Given the description of an element on the screen output the (x, y) to click on. 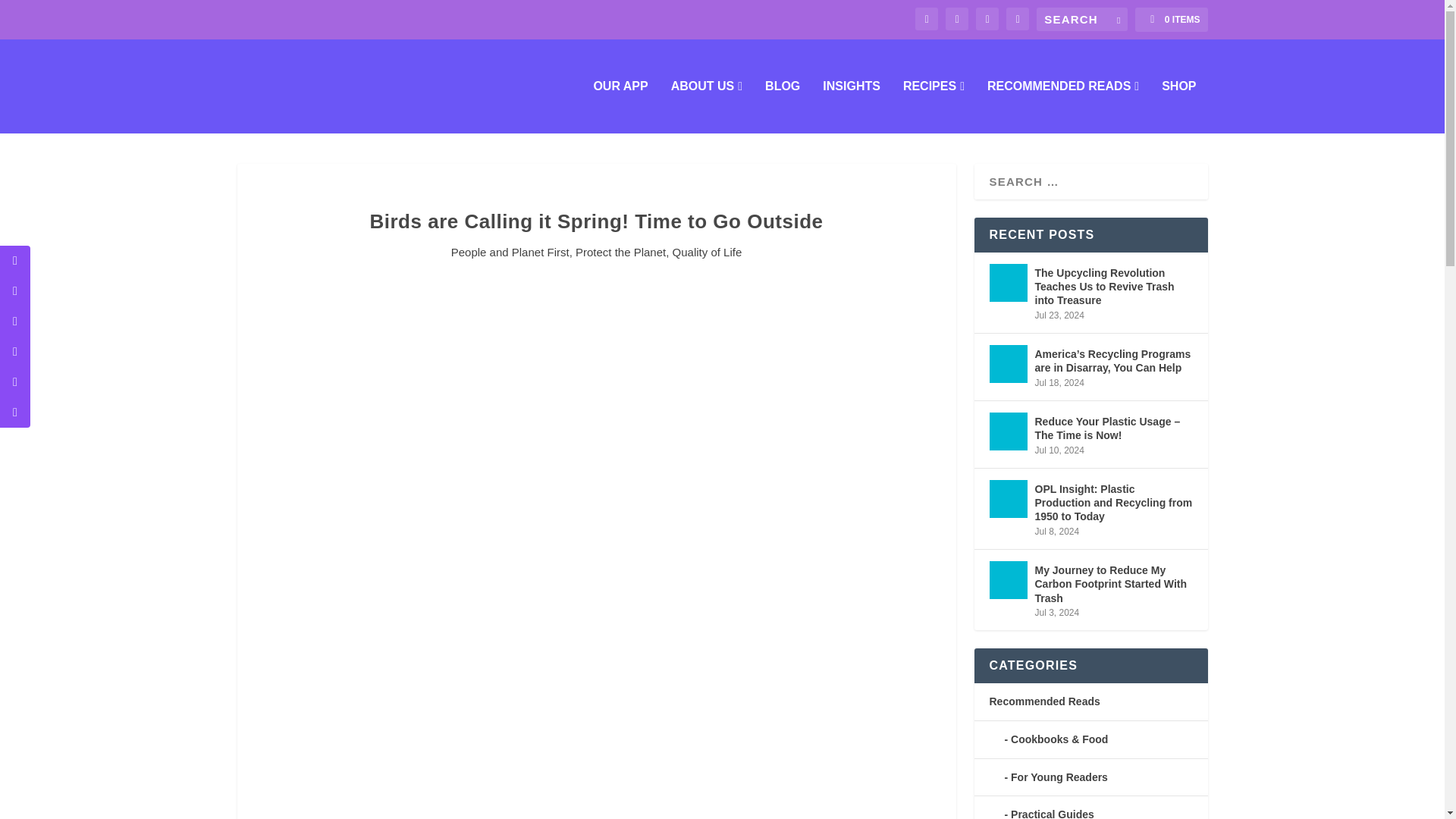
Quality of Life (707, 251)
People and Planet First (510, 251)
Search for: (1081, 19)
INSIGHTS (851, 106)
ABOUT US (706, 106)
0 ITEMS (1171, 19)
Protect the Planet (620, 251)
SHOP (1178, 106)
BLOG (782, 106)
RECIPES (932, 106)
RECOMMENDED READS (1062, 106)
OUR APP (619, 106)
0 Items in Cart (1171, 19)
